Given the description of an element on the screen output the (x, y) to click on. 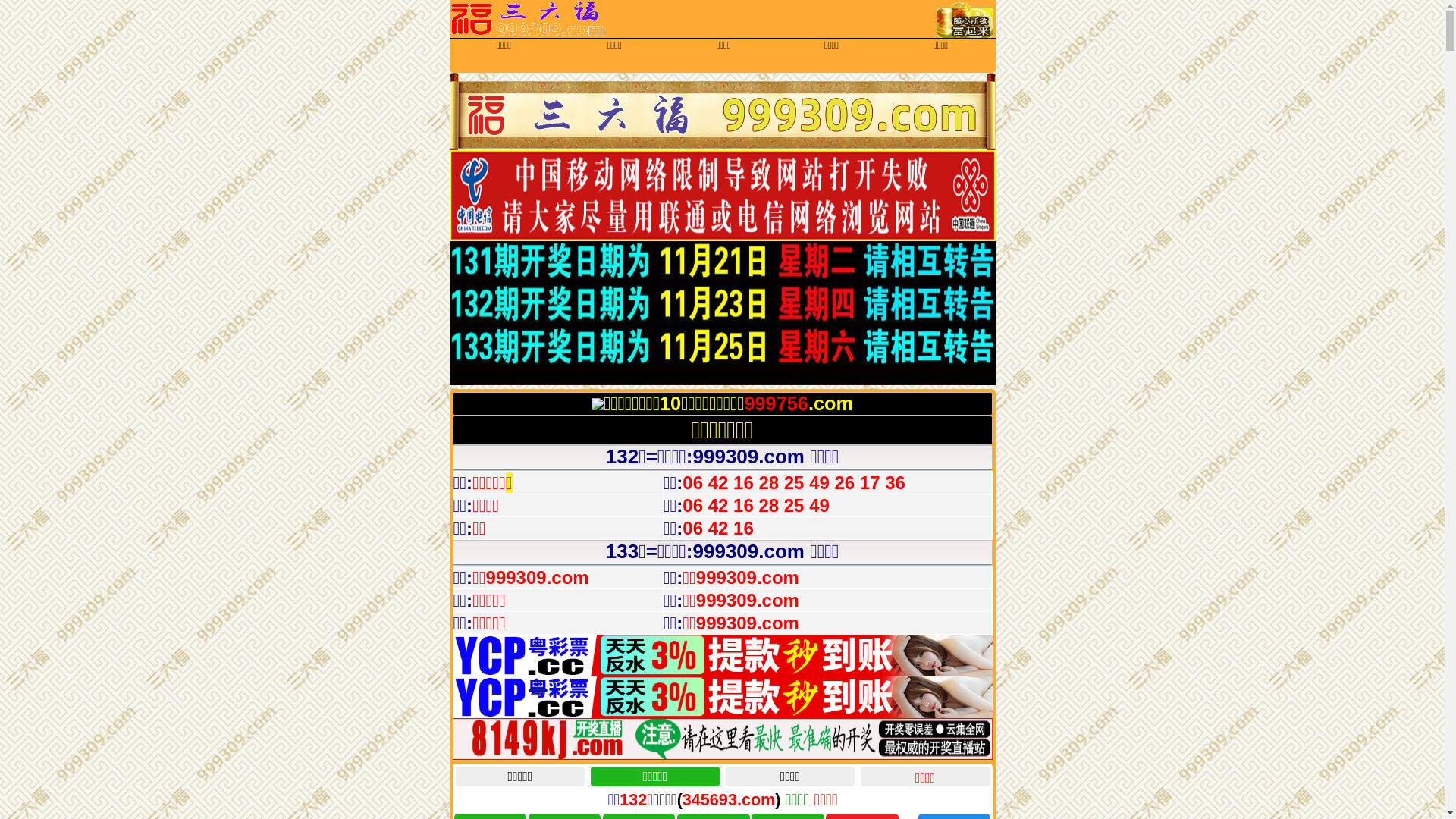
5#10 Element type: hover (721, 654)
5#10 Element type: hover (721, 716)
5#10 Element type: hover (721, 758)
